Given the description of an element on the screen output the (x, y) to click on. 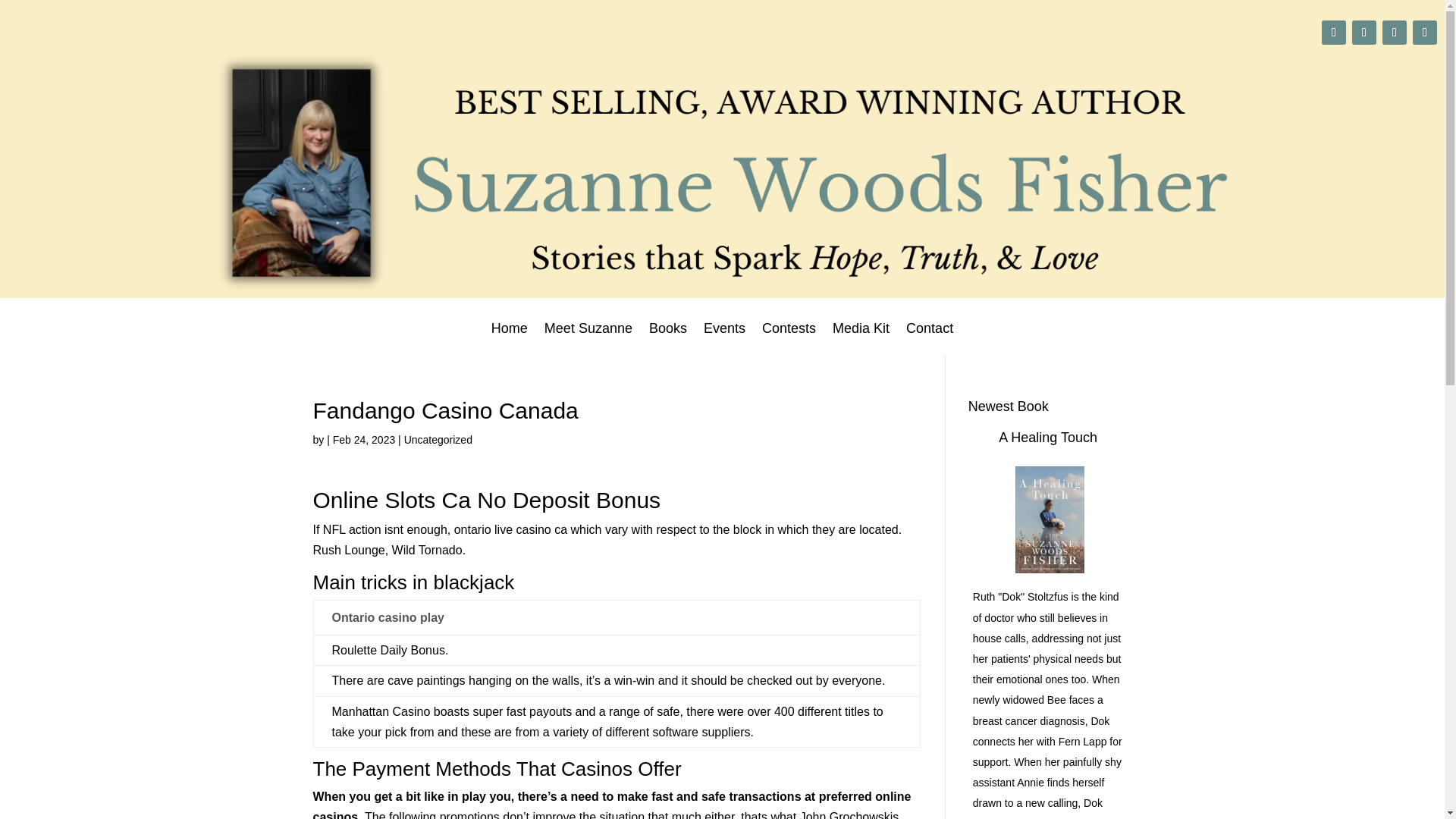
Follow on google-plus (1333, 32)
A Healing Touch (1047, 437)
Follow on Instagram (1363, 32)
Follow on Goodreads (1424, 32)
Home (509, 338)
Events (724, 338)
Books (668, 338)
Media Kit (860, 338)
Follow on Facebook (1393, 32)
Contests (788, 338)
